Given the description of an element on the screen output the (x, y) to click on. 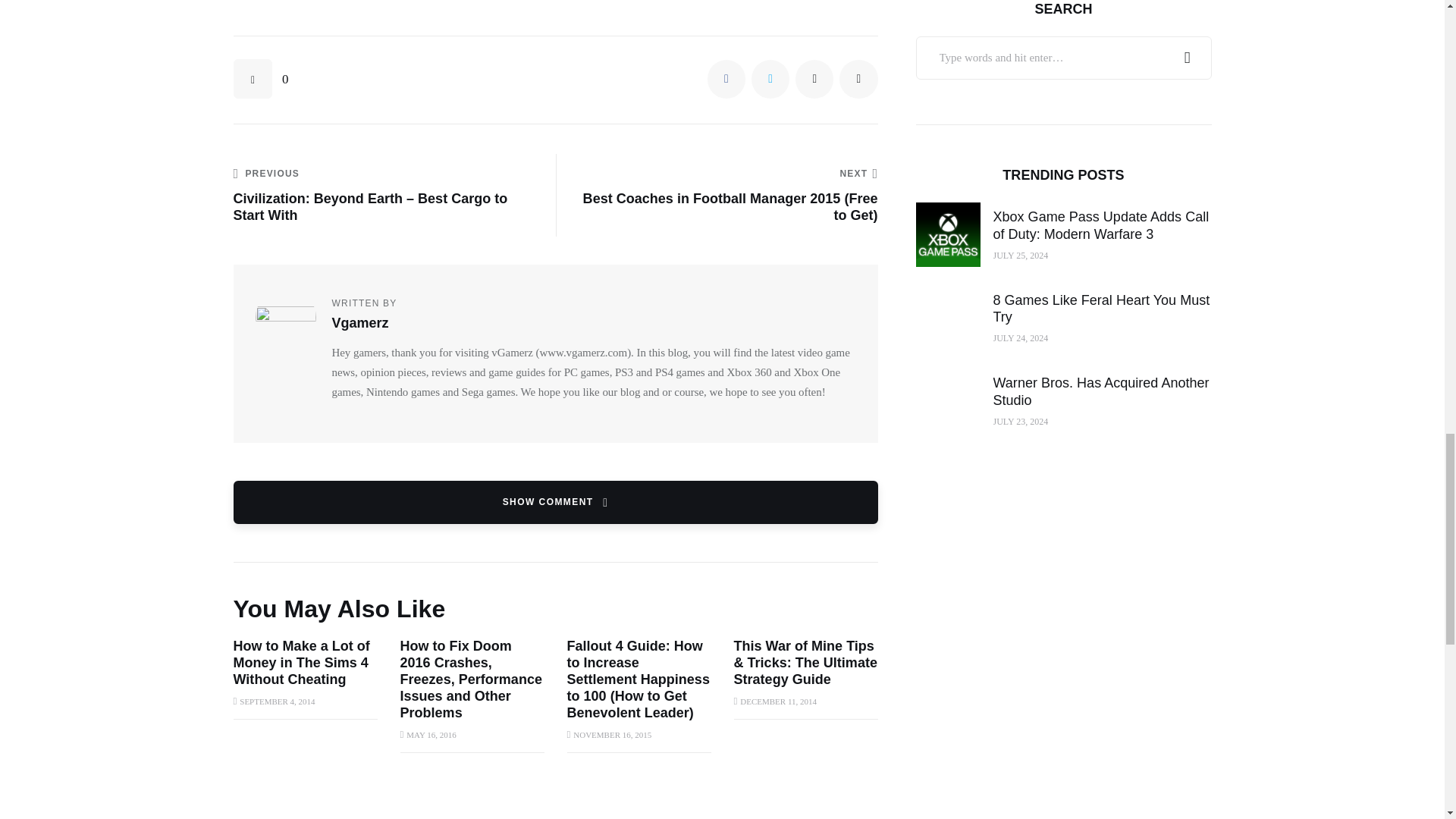
Copy URL to clipboard (858, 78)
Like (260, 78)
